Given the description of an element on the screen output the (x, y) to click on. 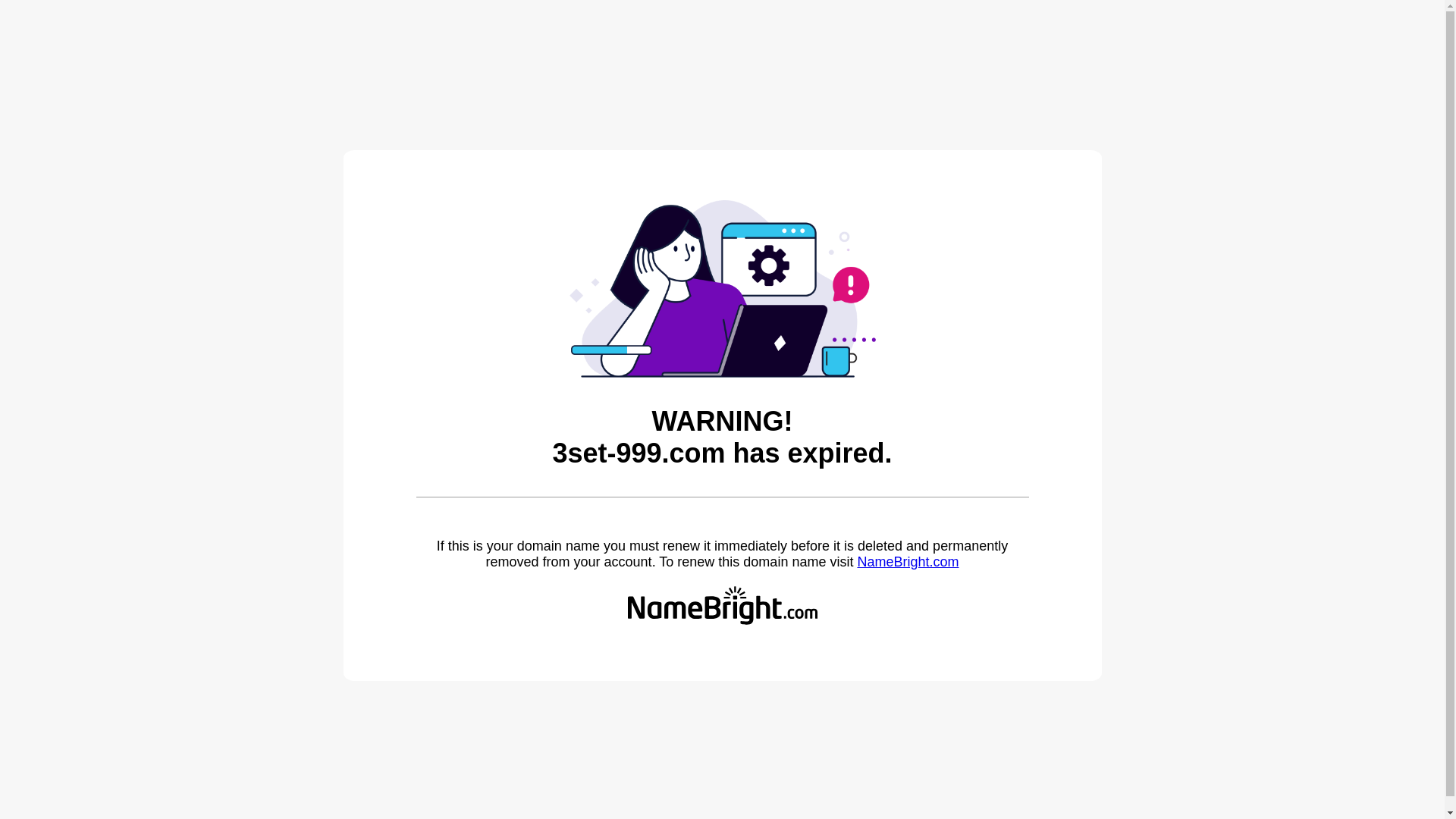
NameBright.com Element type: text (907, 561)
